Given the description of an element on the screen output the (x, y) to click on. 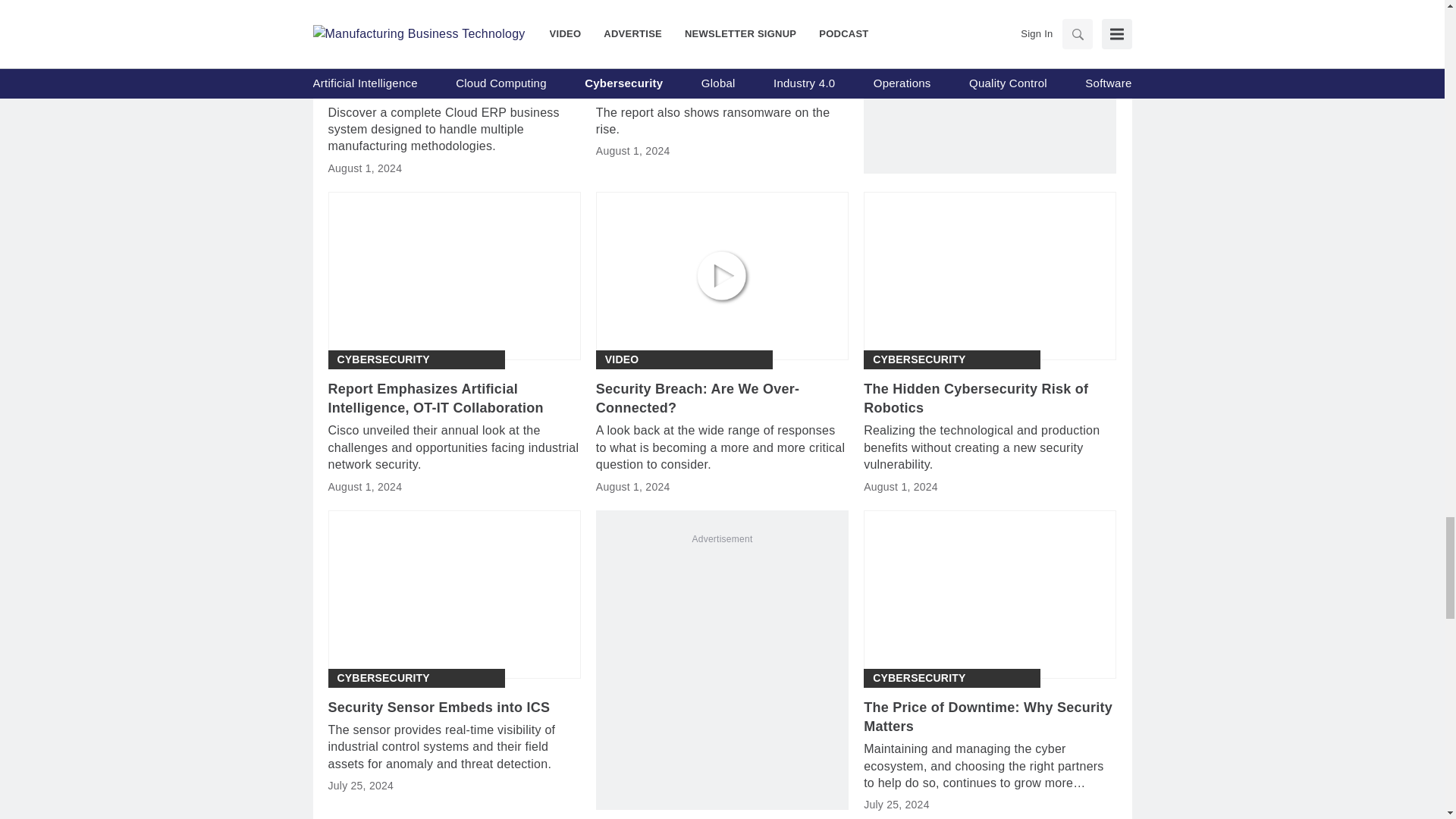
Cybersecurity (382, 678)
Cybersecurity (918, 359)
Cybersecurity (918, 678)
Cybersecurity (382, 359)
Video (622, 359)
Sponsored (371, 41)
Cybersecurity (651, 41)
